Given the description of an element on the screen output the (x, y) to click on. 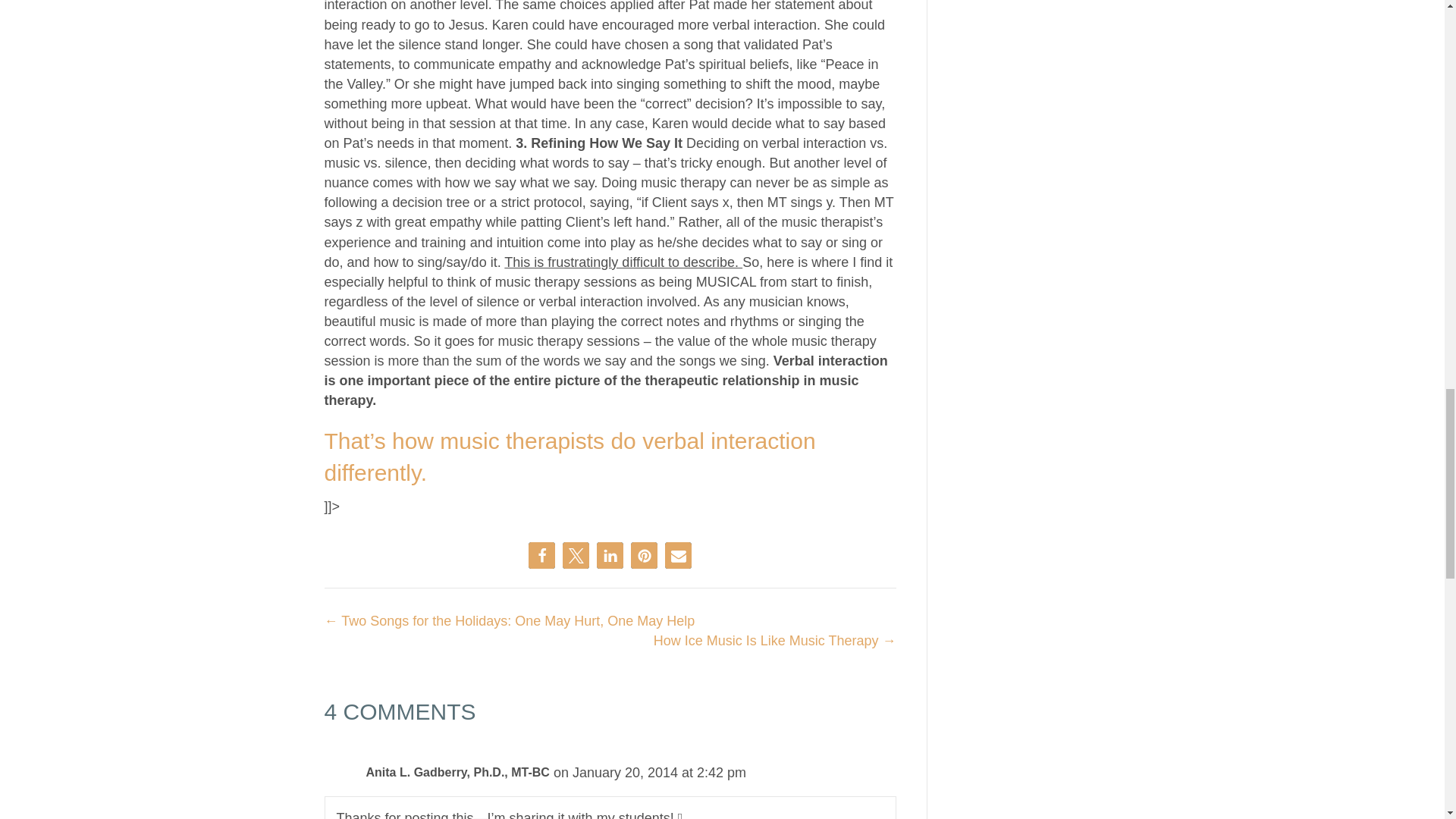
Send by email (678, 555)
Share on Facebook (541, 555)
Share on X (575, 555)
Share on LinkedIn (609, 555)
Pin it on Pinterest (644, 555)
